Given the description of an element on the screen output the (x, y) to click on. 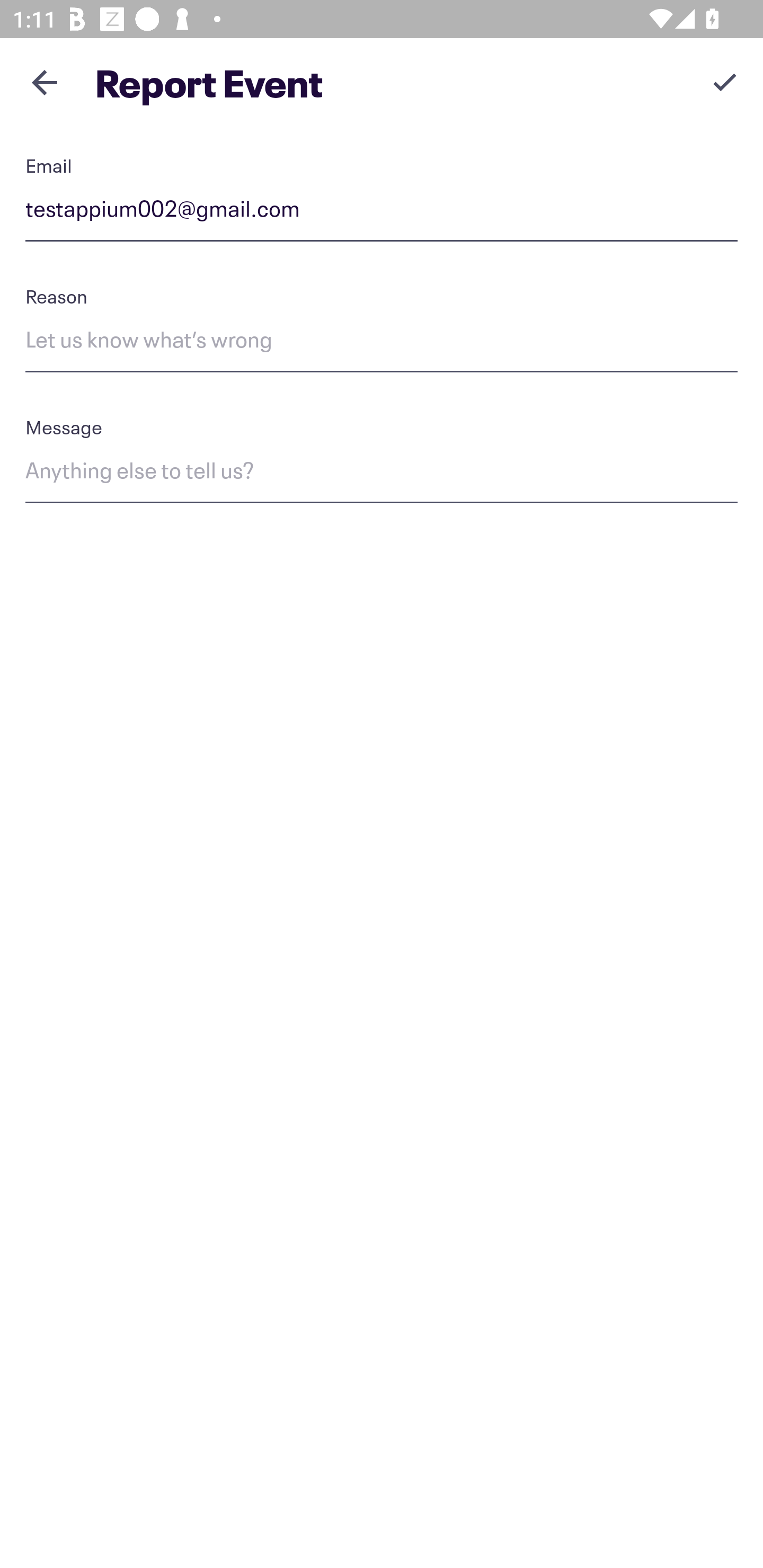
Navigate up (44, 82)
Save (724, 81)
testappium002@gmail.com (381, 211)
Let us know what’s wrong (381, 342)
Anything else to tell us? (381, 473)
